Given the description of an element on the screen output the (x, y) to click on. 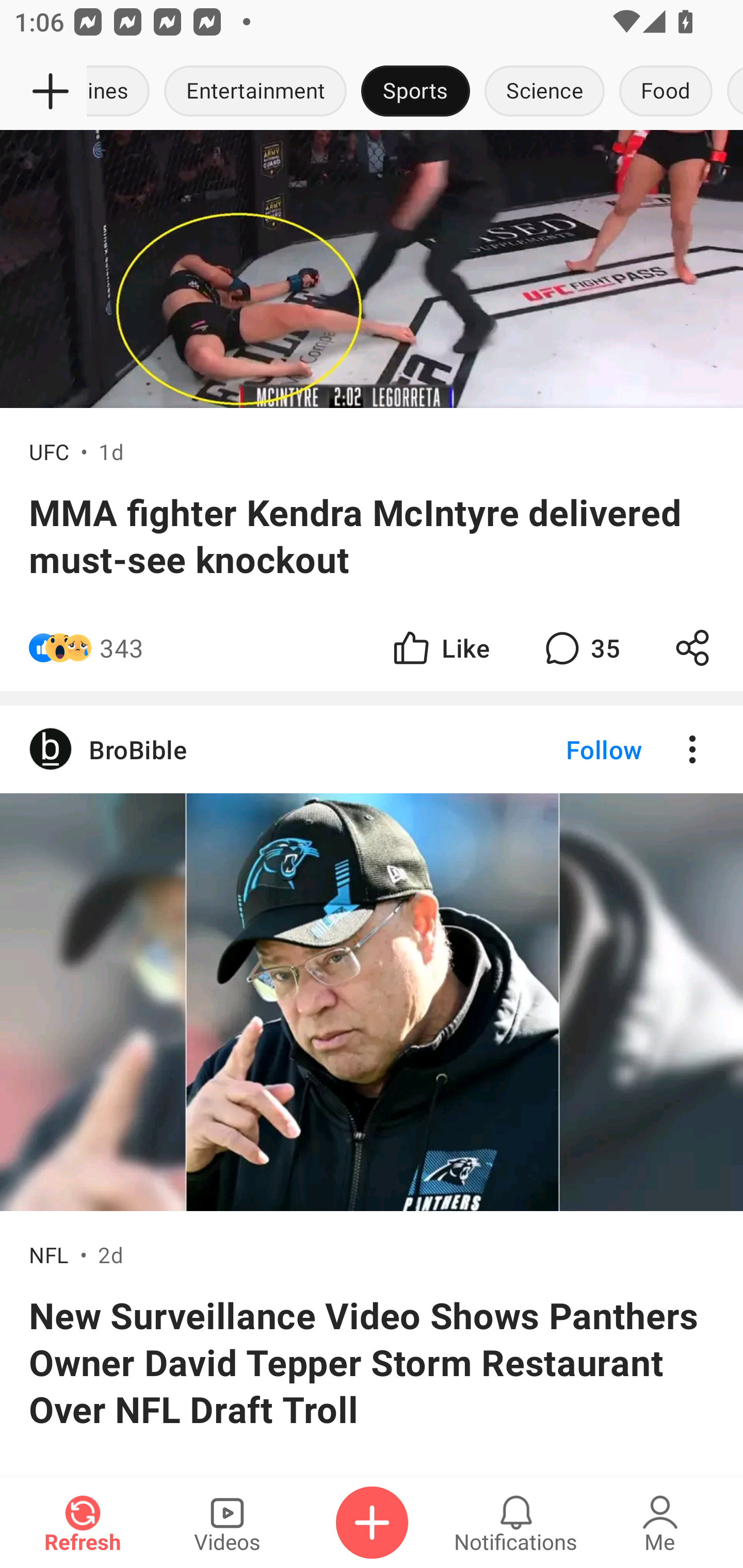
Headlines (121, 91)
Entertainment (254, 91)
Sports (415, 91)
Science (544, 91)
Food (665, 91)
343 (121, 648)
Like (439, 648)
35 (579, 648)
BroBible Follow (371, 749)
Follow (569, 749)
Videos (227, 1522)
Notifications (516, 1522)
Me (659, 1522)
